Given the description of an element on the screen output the (x, y) to click on. 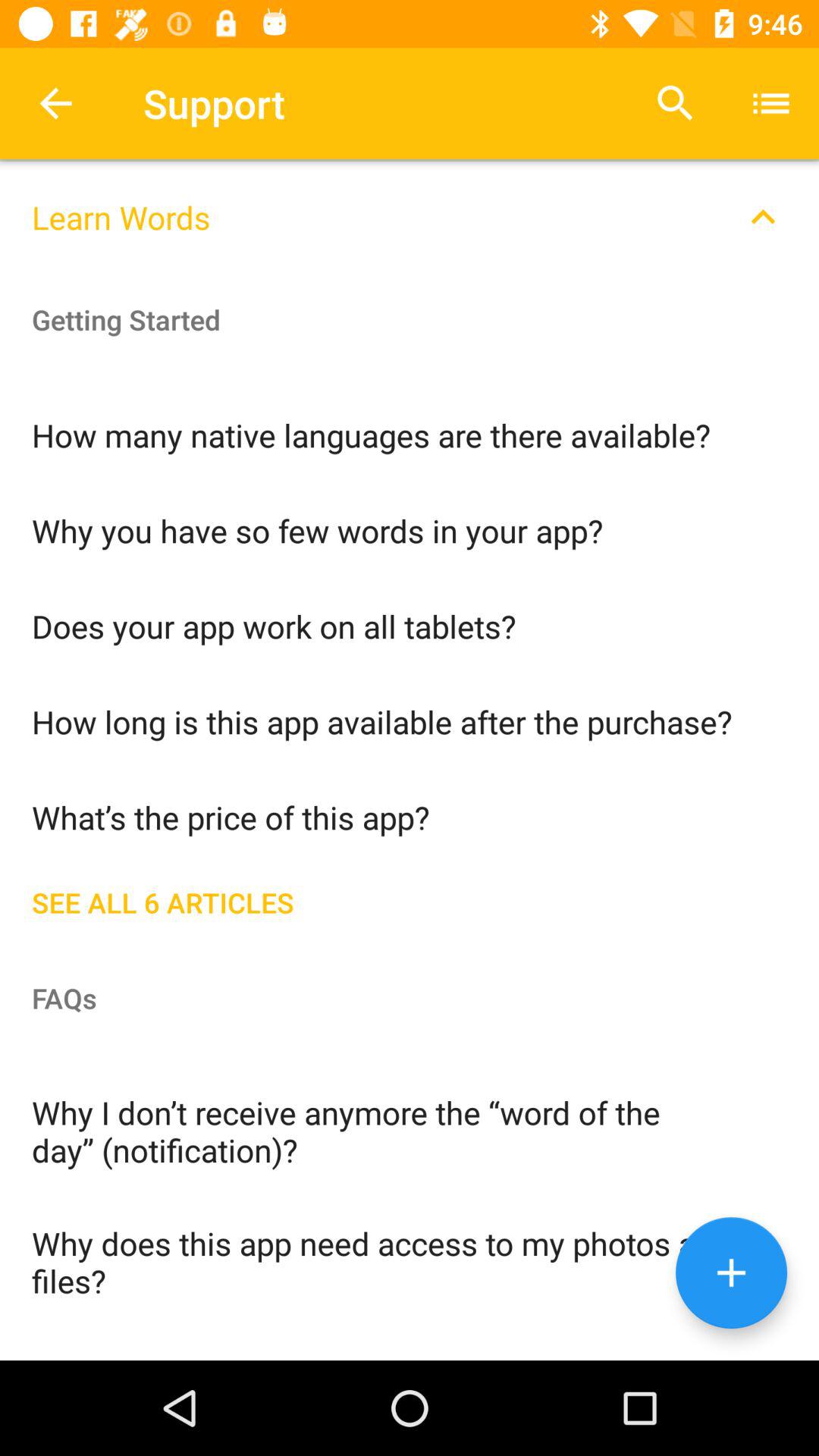
scroll to the why does this (409, 1260)
